Given the description of an element on the screen output the (x, y) to click on. 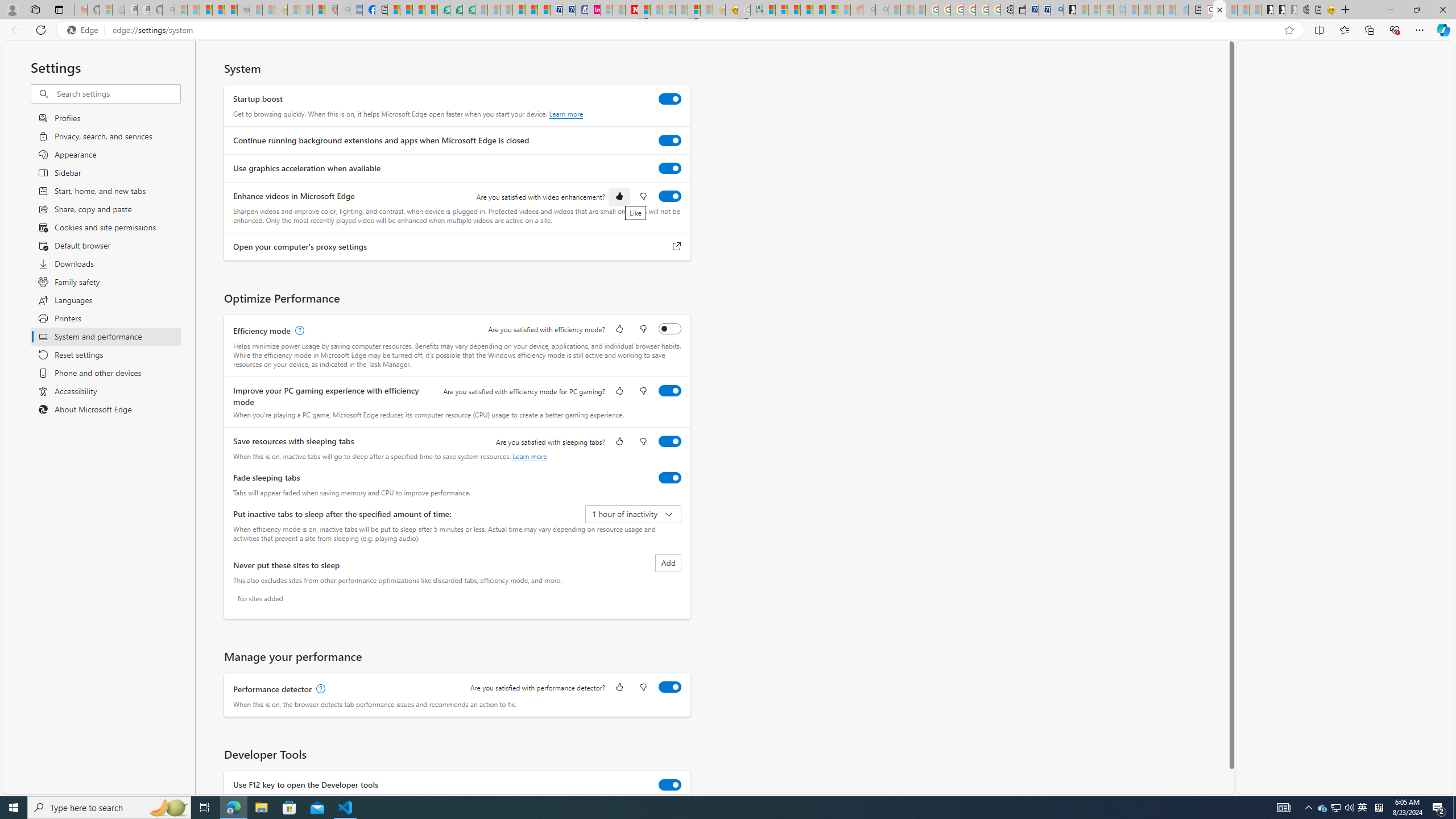
Performance detector, learn more (319, 688)
Learn more (529, 456)
